Given the description of an element on the screen output the (x, y) to click on. 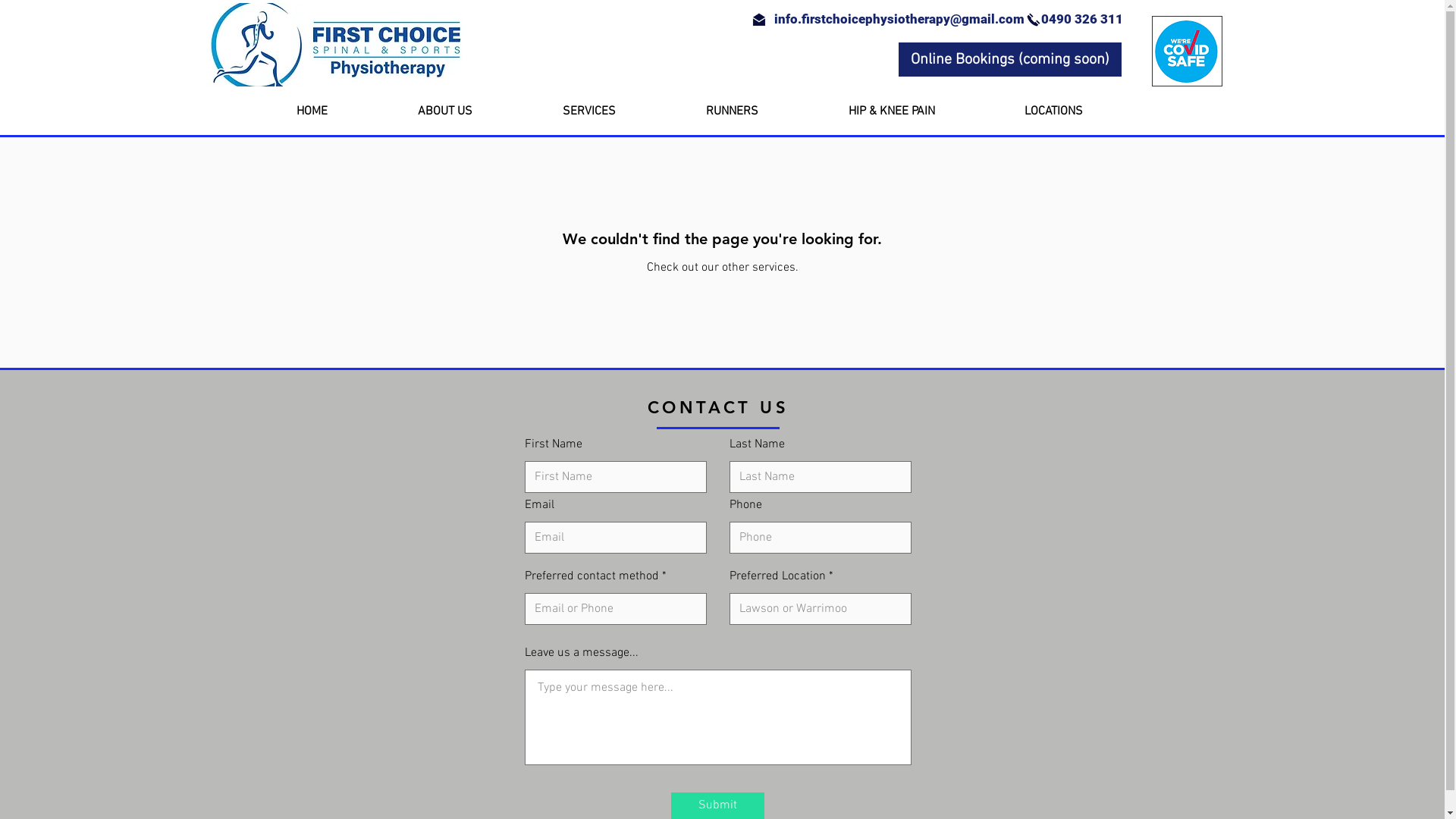
info.firstchoicephysiotherapy@gmail.com Element type: text (899, 19)
0490 326 311 Element type: text (1080, 19)
Hor logo.jpeg Element type: hover (335, 44)
Online Bookings (coming soon) Element type: text (1008, 59)
HIP & KNEE PAIN Element type: text (925, 111)
SERVICES Element type: text (621, 111)
RUNNERS Element type: text (765, 111)
LOCATIONS Element type: text (1087, 111)
ABOUT US Element type: text (478, 111)
HOME Element type: text (345, 111)
